Given the description of an element on the screen output the (x, y) to click on. 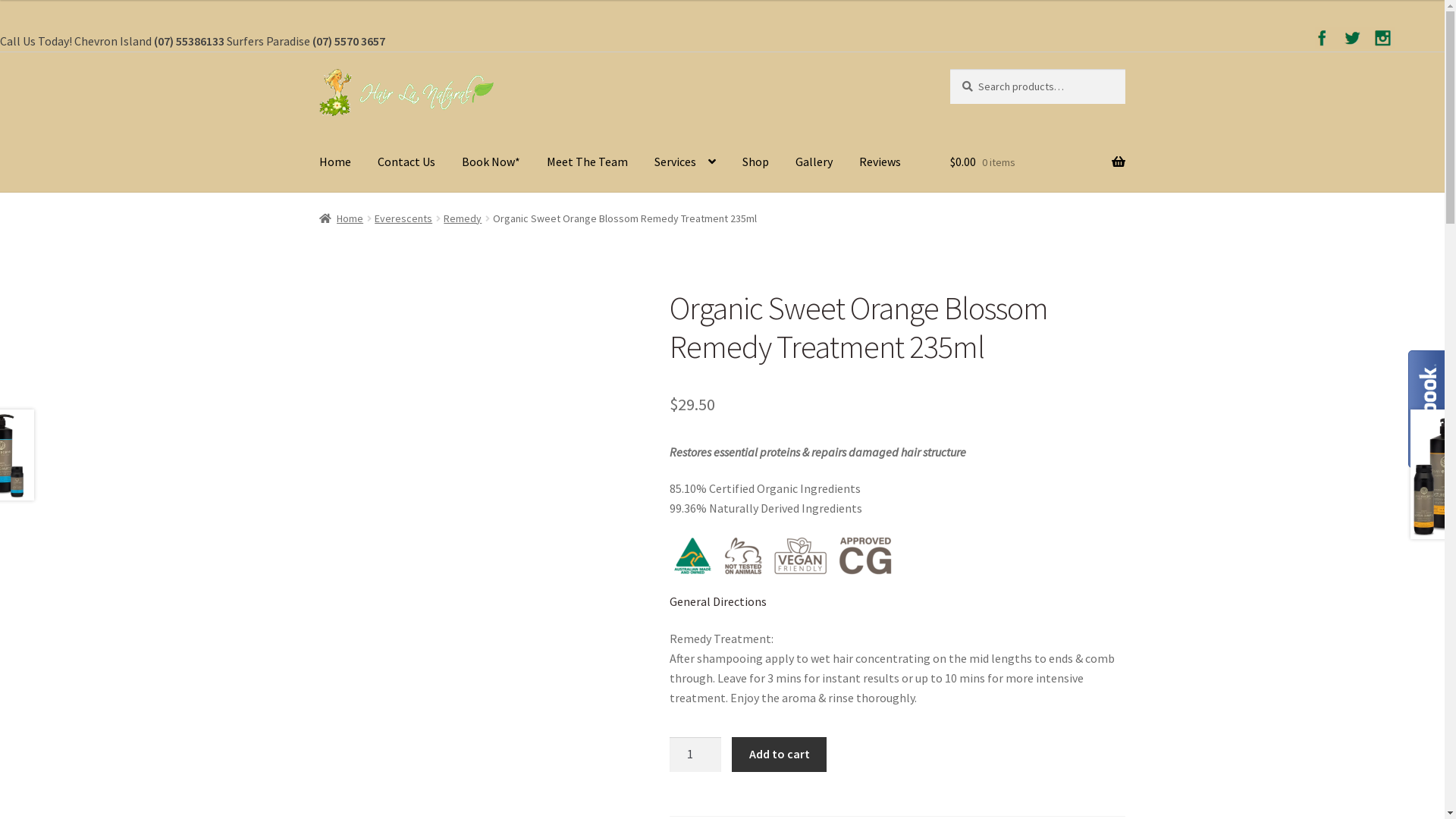
Add to cart Element type: text (778, 754)
Home Element type: text (341, 218)
Shop Element type: text (755, 162)
Remedy Element type: text (462, 218)
Book Now* Element type: text (490, 162)
General Directions Element type: text (717, 600)
Everescents Element type: text (403, 218)
$0.00 0 items Element type: text (1037, 162)
Gallery Element type: text (813, 162)
Reviews Element type: text (880, 162)
Contact Us Element type: text (406, 162)
Services Element type: text (685, 162)
Meet The Team Element type: text (587, 162)
Skip to navigation Element type: text (318, 68)
Search Element type: text (949, 68)
Home Element type: text (335, 162)
